Given the description of an element on the screen output the (x, y) to click on. 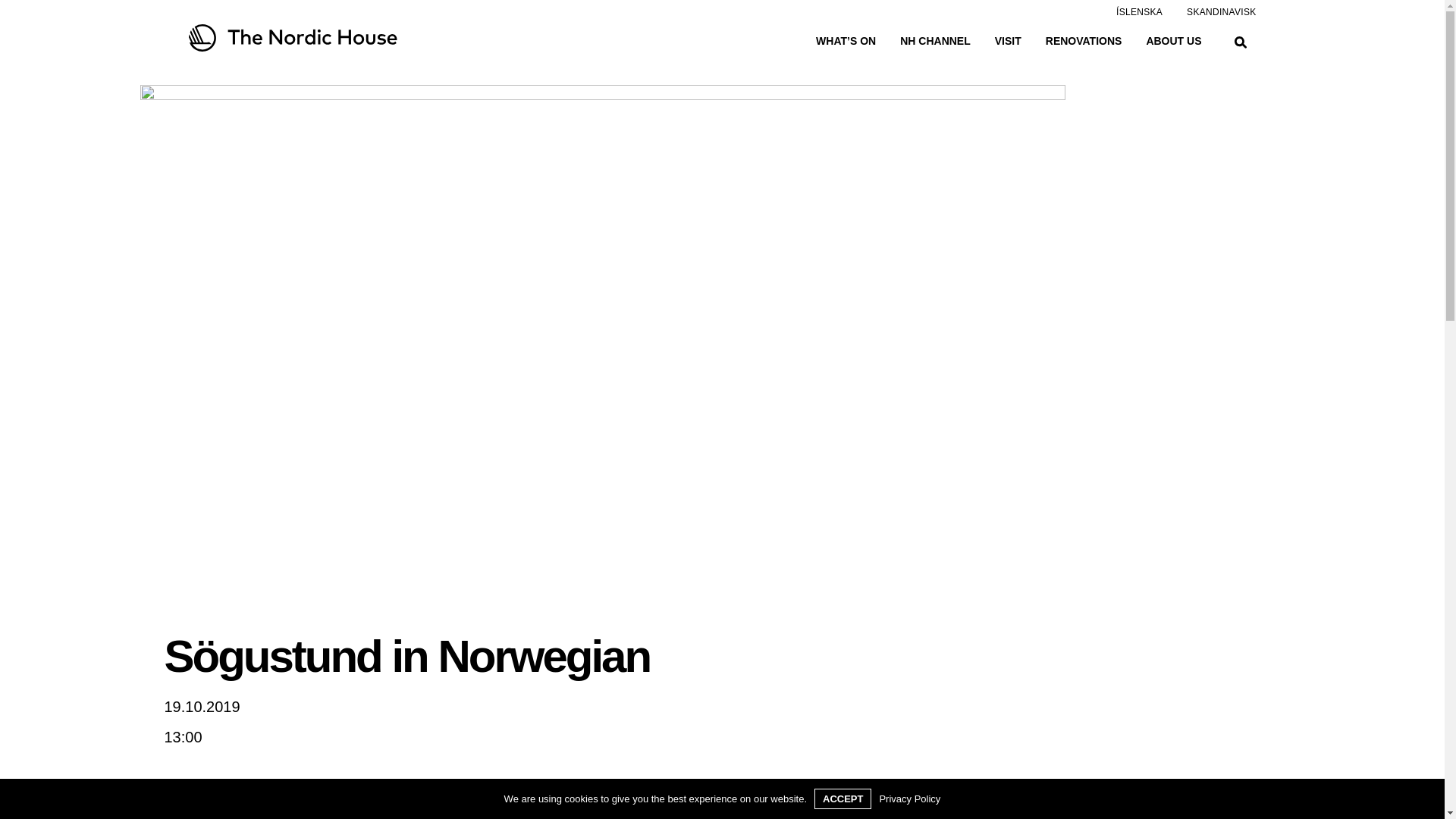
SKANDINAVISK (1208, 11)
VISIT (1008, 40)
RENOVATIONS (1083, 40)
NH CHANNEL (935, 40)
ABOUT US (1173, 40)
The Nordic House (357, 37)
